Given the description of an element on the screen output the (x, y) to click on. 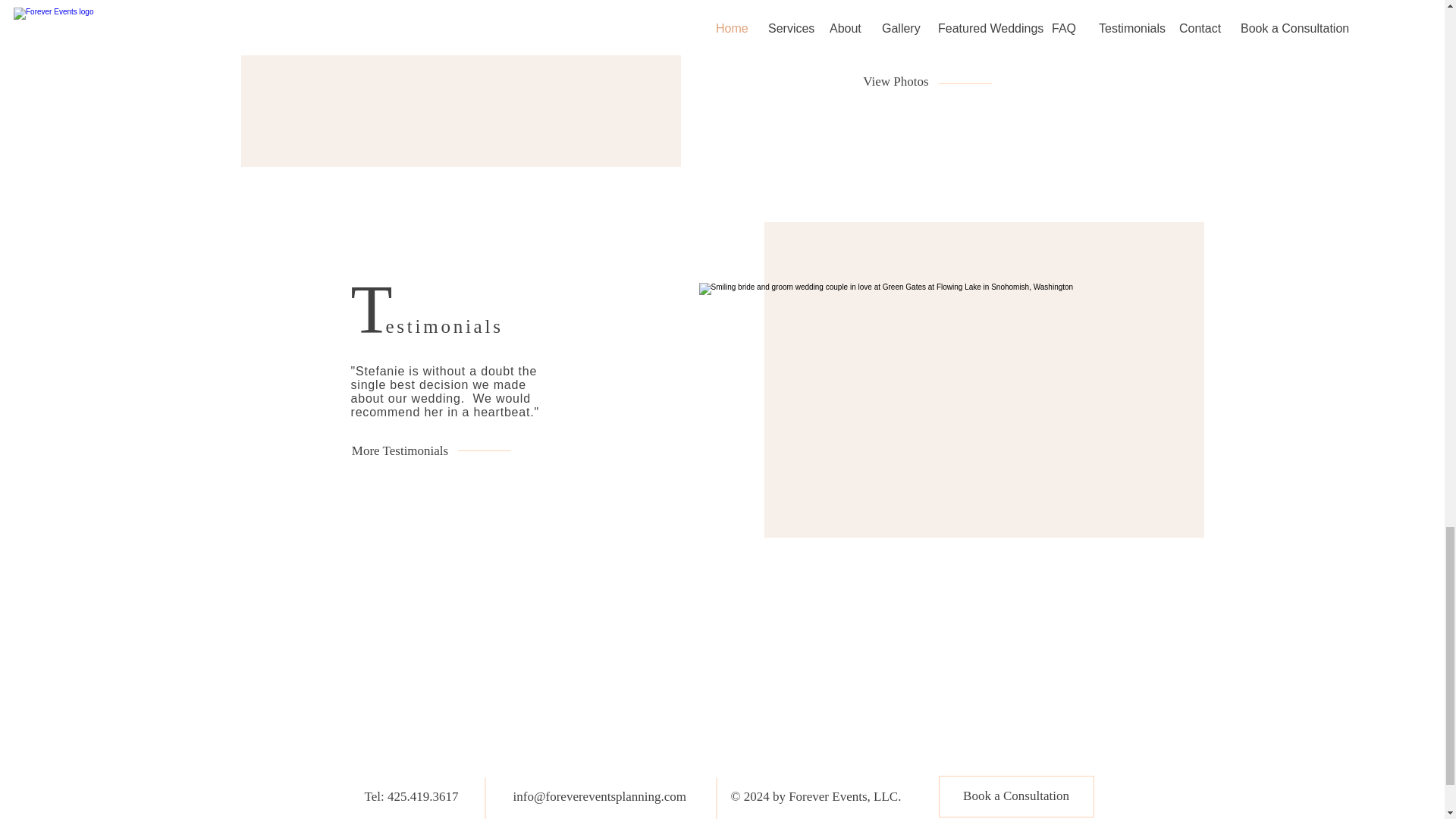
View Photos (895, 81)
Book a Consultation (1016, 796)
More Testimonials (399, 451)
